Given the description of an element on the screen output the (x, y) to click on. 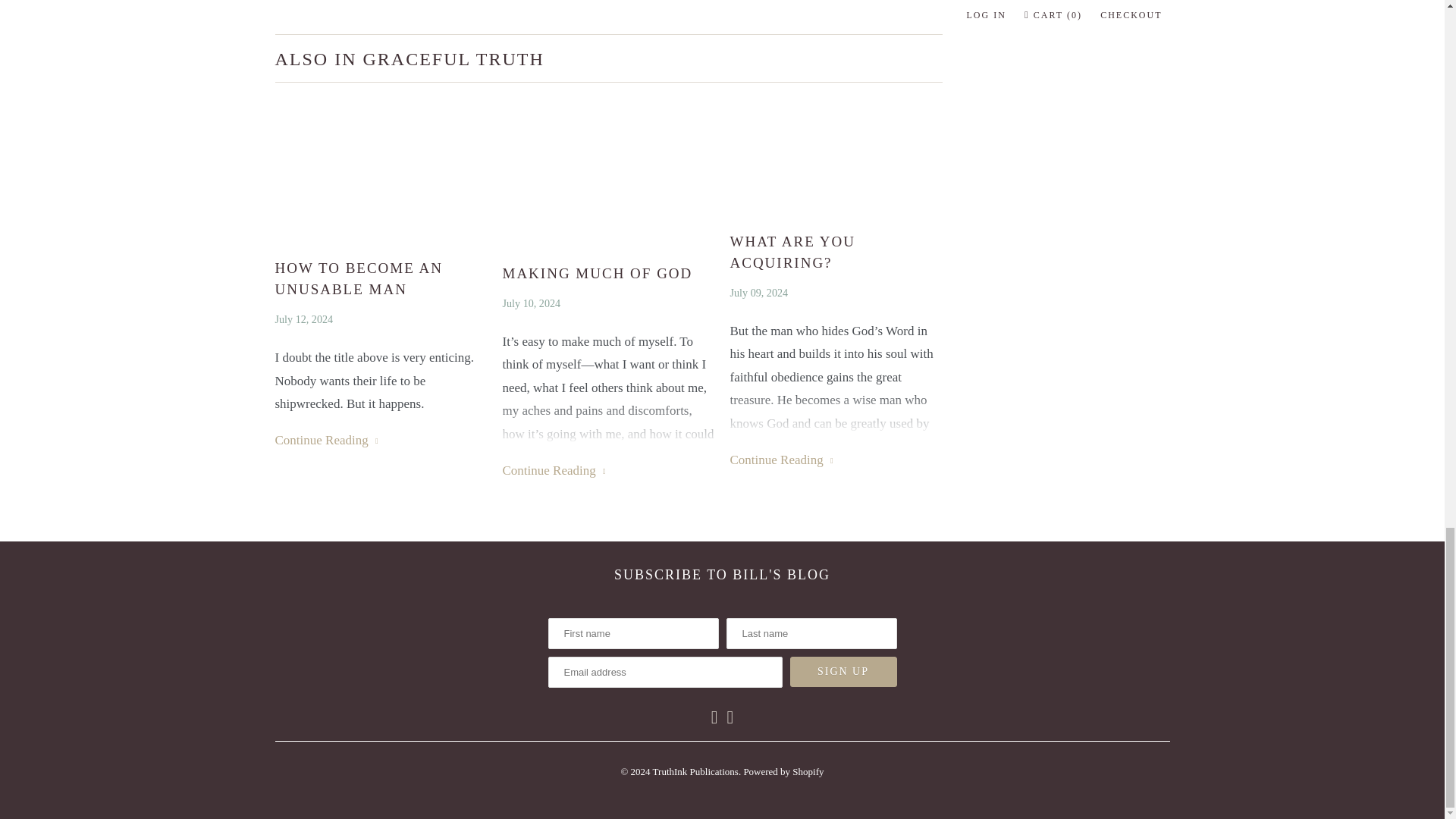
WHAT ARE YOU ACQUIRING? (835, 251)
HOW TO BECOME AN UNUSABLE MAN (380, 166)
Sign Up (843, 671)
WHAT ARE YOU ACQUIRING? (835, 251)
Continue Reading (326, 440)
WHAT ARE YOU ACQUIRING? (780, 459)
WHAT ARE YOU ACQUIRING? (835, 153)
MAKING MUCH OF GOD (553, 470)
Continue Reading (553, 470)
MAKING MUCH OF GOD (608, 273)
MAKING MUCH OF GOD (608, 169)
Continue Reading (780, 459)
HOW TO BECOME AN UNUSABLE MAN (326, 440)
MAKING MUCH OF GOD (608, 273)
HOW TO BECOME AN UNUSABLE MAN (380, 278)
